Given the description of an element on the screen output the (x, y) to click on. 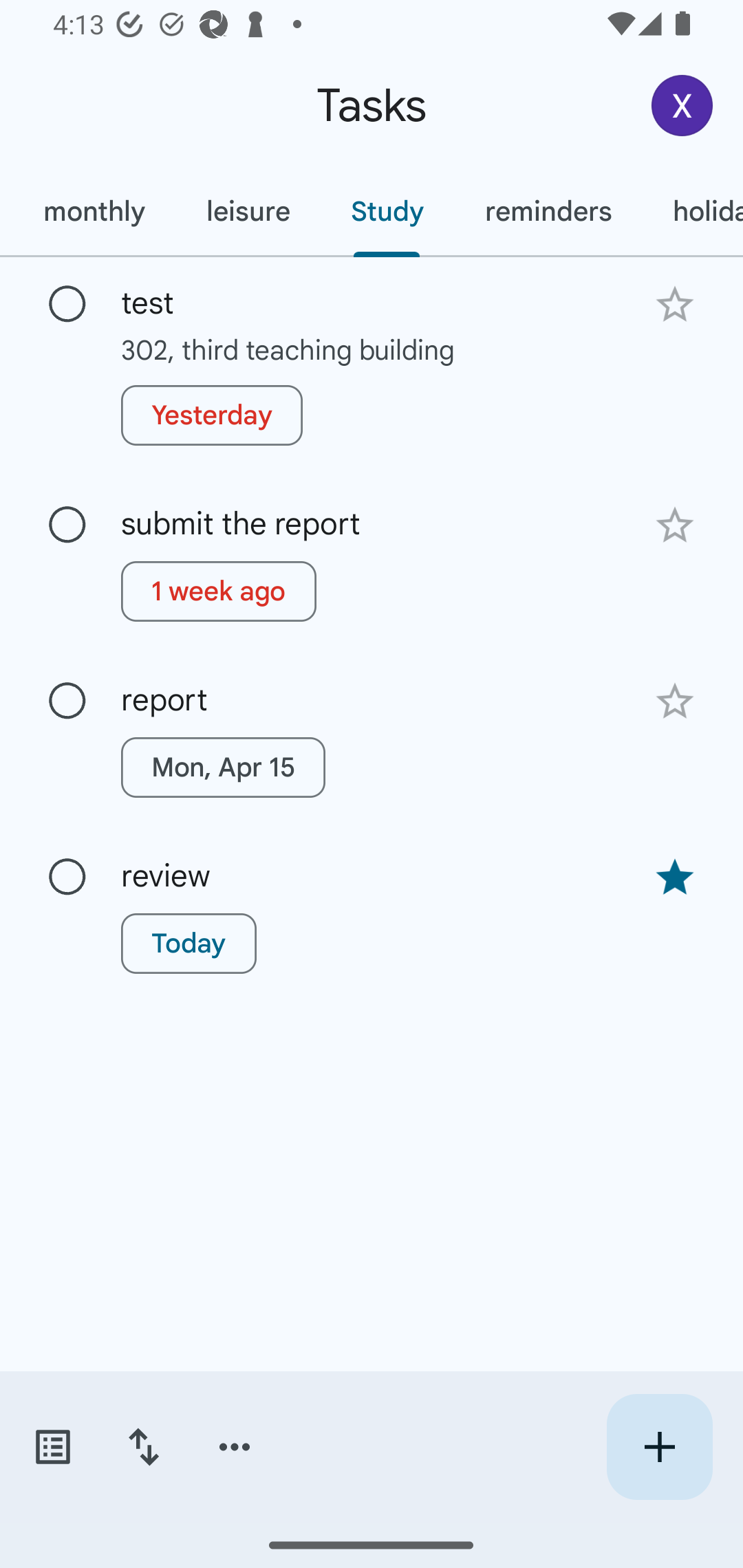
monthly (93, 211)
leisure (247, 211)
reminders (547, 211)
holiday planning (692, 211)
Add star (674, 303)
Mark as complete (67, 304)
302, third teaching building (371, 349)
Yesterday (211, 415)
Add star (674, 524)
Mark as complete (67, 525)
1 week ago (218, 590)
Add star (674, 700)
Mark as complete (67, 701)
Mon, Apr 15 (223, 767)
Remove star (674, 877)
Mark as complete (67, 877)
Today (188, 943)
Switch task lists (52, 1447)
Create new task (659, 1446)
Change sort order (143, 1446)
More options (234, 1446)
